Given the description of an element on the screen output the (x, y) to click on. 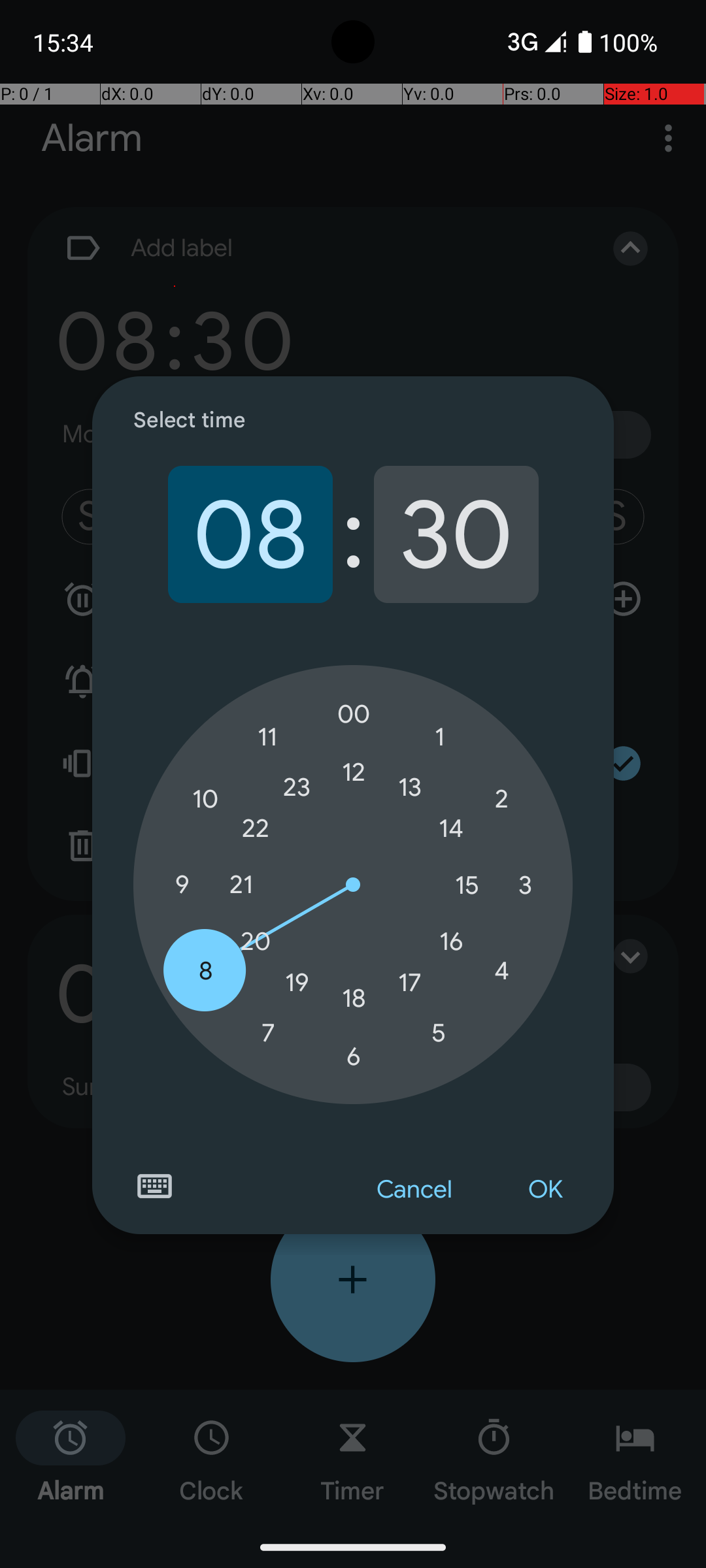
08 Element type: android.view.View (250, 534)
30 Element type: android.view.View (455, 534)
Switch to text input mode for the time input. Element type: android.widget.Button (154, 1186)
Cancel Element type: android.widget.Button (414, 1189)
OK Element type: android.widget.Button (545, 1189)
11 Element type: android.widget.TextView (267, 736)
10 Element type: android.widget.TextView (205, 798)
23 Element type: android.widget.TextView (296, 787)
12 Element type: android.widget.TextView (353, 772)
13 Element type: android.widget.TextView (409, 787)
21 Element type: android.widget.TextView (240, 884)
22 Element type: android.widget.TextView (255, 828)
14 Element type: android.widget.TextView (450, 828)
20 Element type: android.widget.TextView (255, 941)
16 Element type: android.widget.TextView (450, 941)
15 Element type: android.widget.TextView (466, 885)
19 Element type: android.widget.TextView (296, 982)
18 Element type: android.widget.TextView (353, 998)
17 Element type: android.widget.TextView (409, 982)
